Given the description of an element on the screen output the (x, y) to click on. 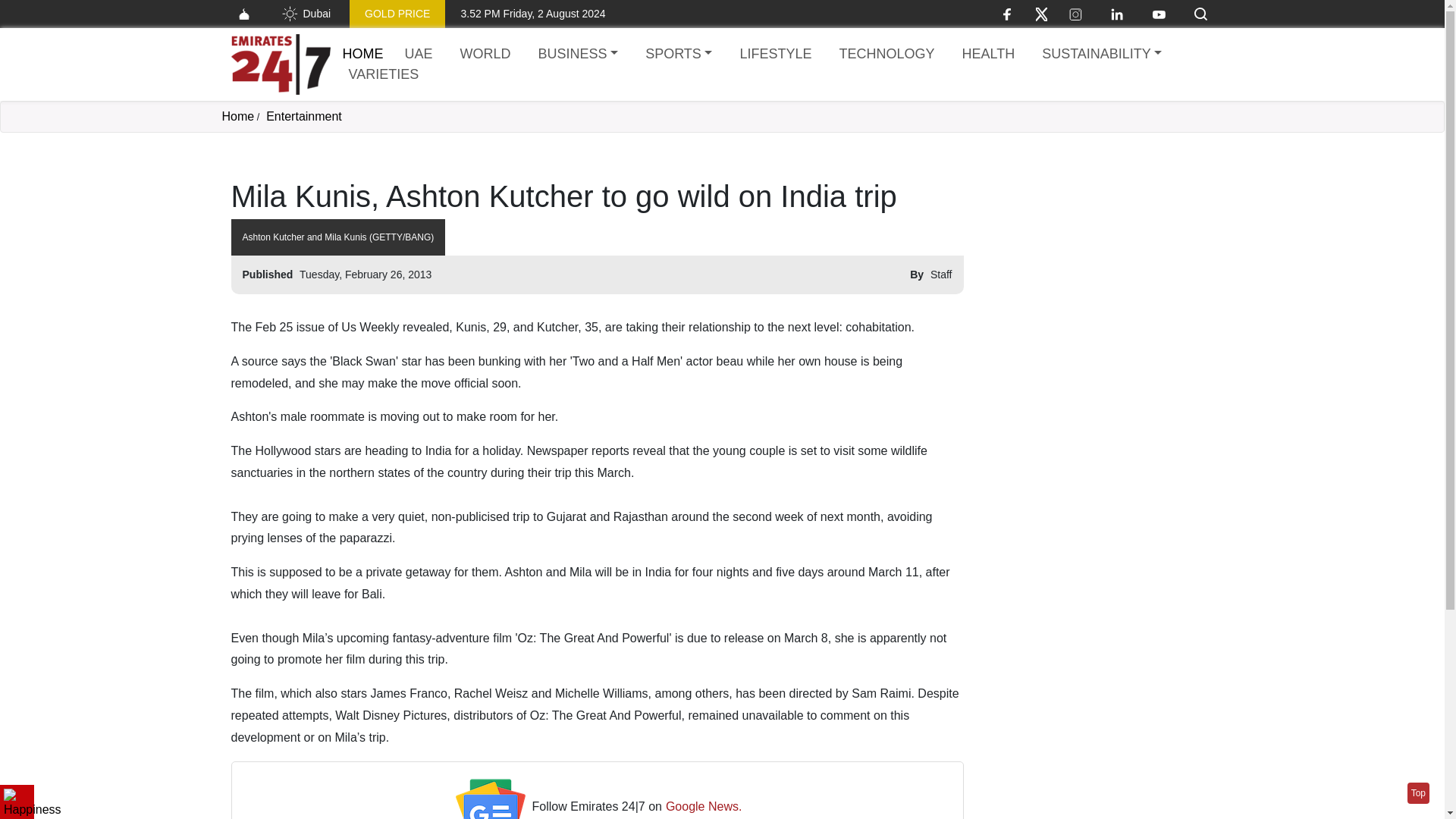
Go to top (1418, 792)
SPORTS (678, 54)
GOLD PRICE (397, 13)
WORLD (485, 54)
Home (237, 115)
HOME (363, 53)
Entertainment (304, 115)
Google News. (703, 807)
Home (280, 64)
VARIETIES (383, 74)
UAE (418, 54)
LIFESTYLE (774, 54)
Home (363, 53)
TECHNOLOGY (886, 54)
Dubai (305, 13)
